Given the description of an element on the screen output the (x, y) to click on. 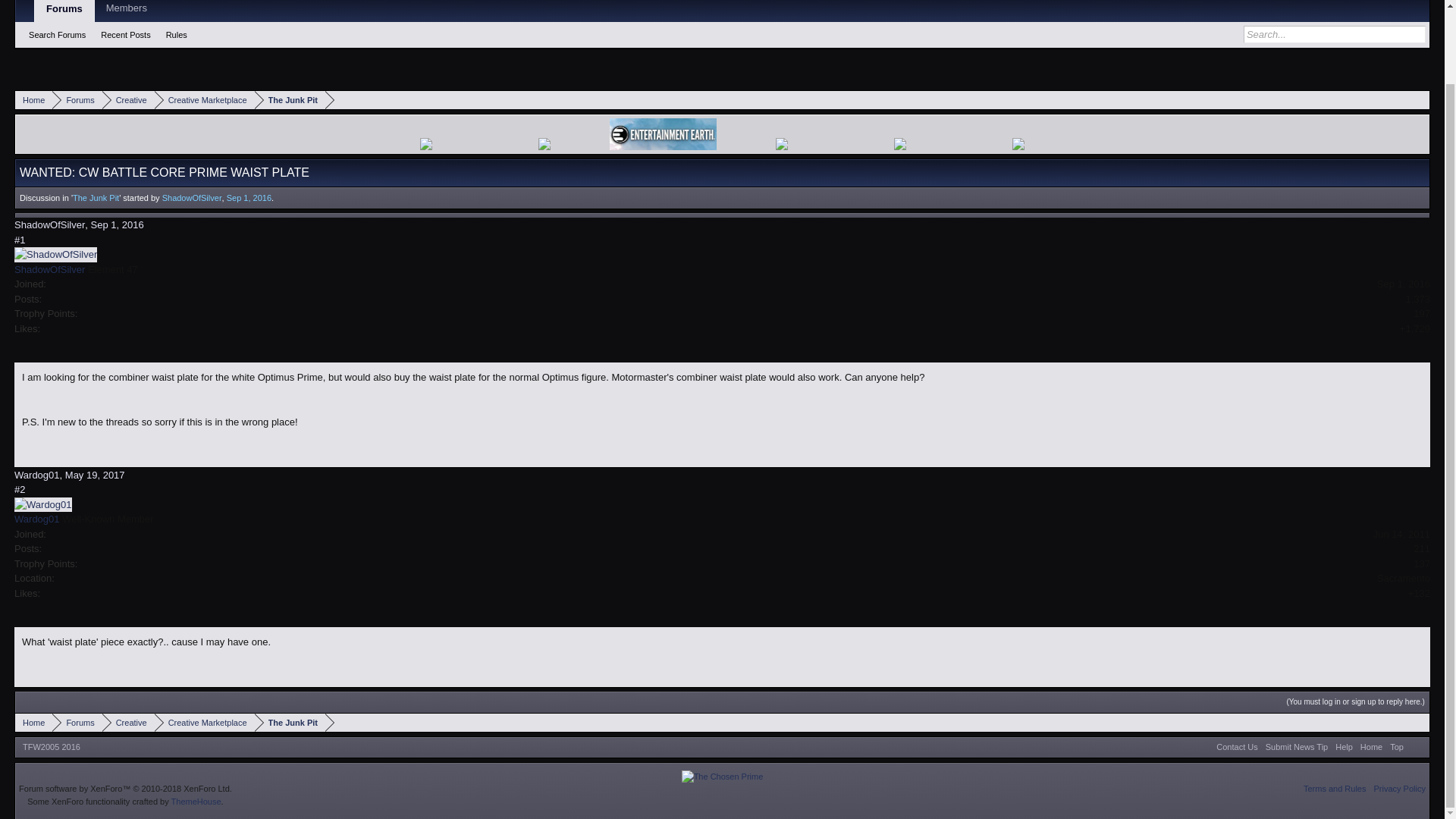
The Junk Pit (289, 99)
Sep 1, 2016 (117, 224)
Permalink (95, 474)
Sep 1, 2016 at 11:55 PM (248, 197)
211 (1421, 548)
Creative (127, 99)
Sacramento (1403, 577)
Sep 1, 2016 (248, 197)
Permalink (19, 489)
Forums (76, 99)
May 19, 2017 (95, 474)
Permalink (19, 239)
197 (1421, 313)
Enter your search and hit enter (1334, 33)
Wardog01 (36, 474)
